Given the description of an element on the screen output the (x, y) to click on. 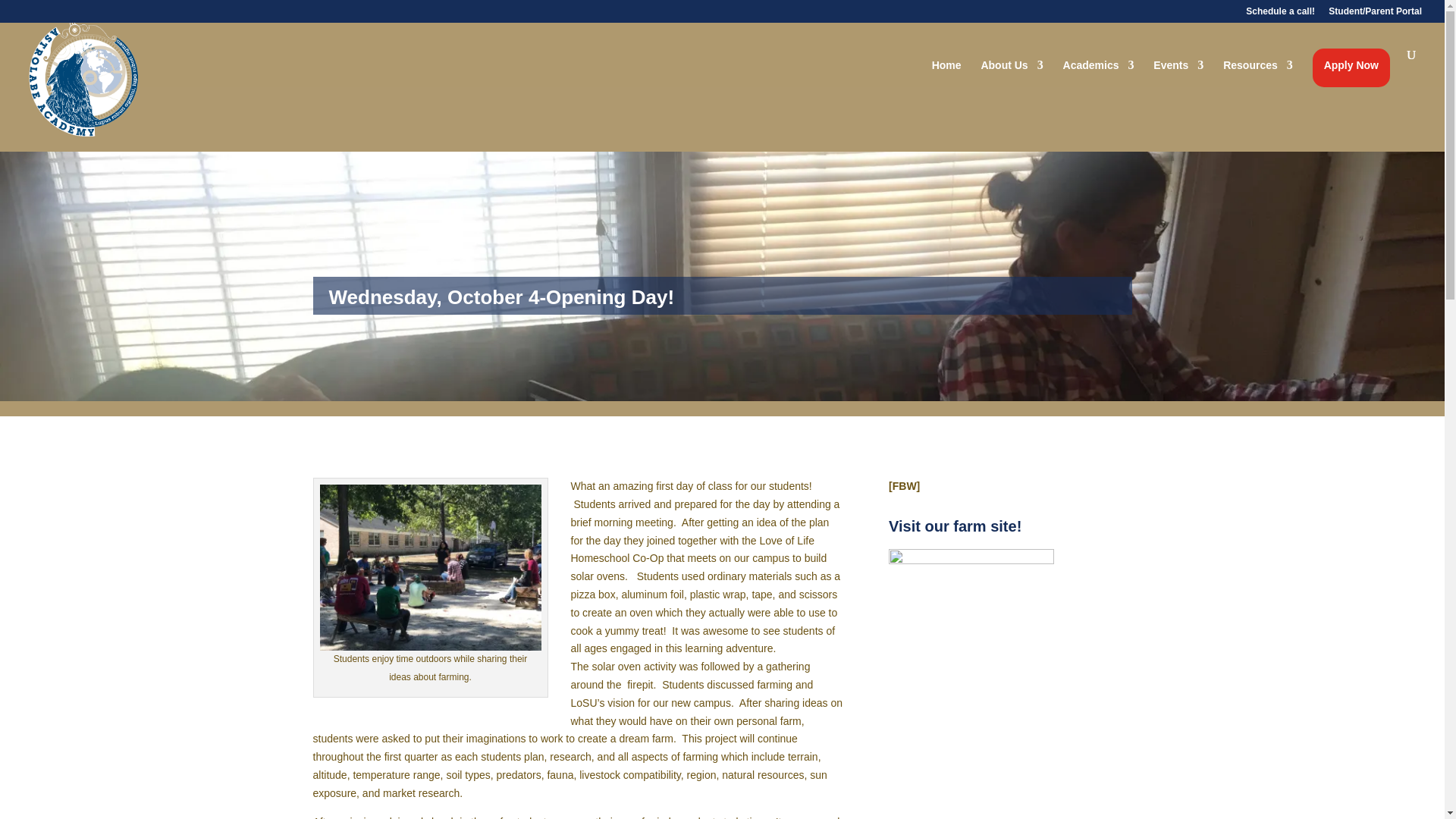
Home (945, 67)
Resources (1257, 67)
Schedule a call! (1280, 14)
Apply Now (1350, 67)
Events (1178, 67)
Academics (1098, 67)
About Us (1010, 67)
